Given the description of an element on the screen output the (x, y) to click on. 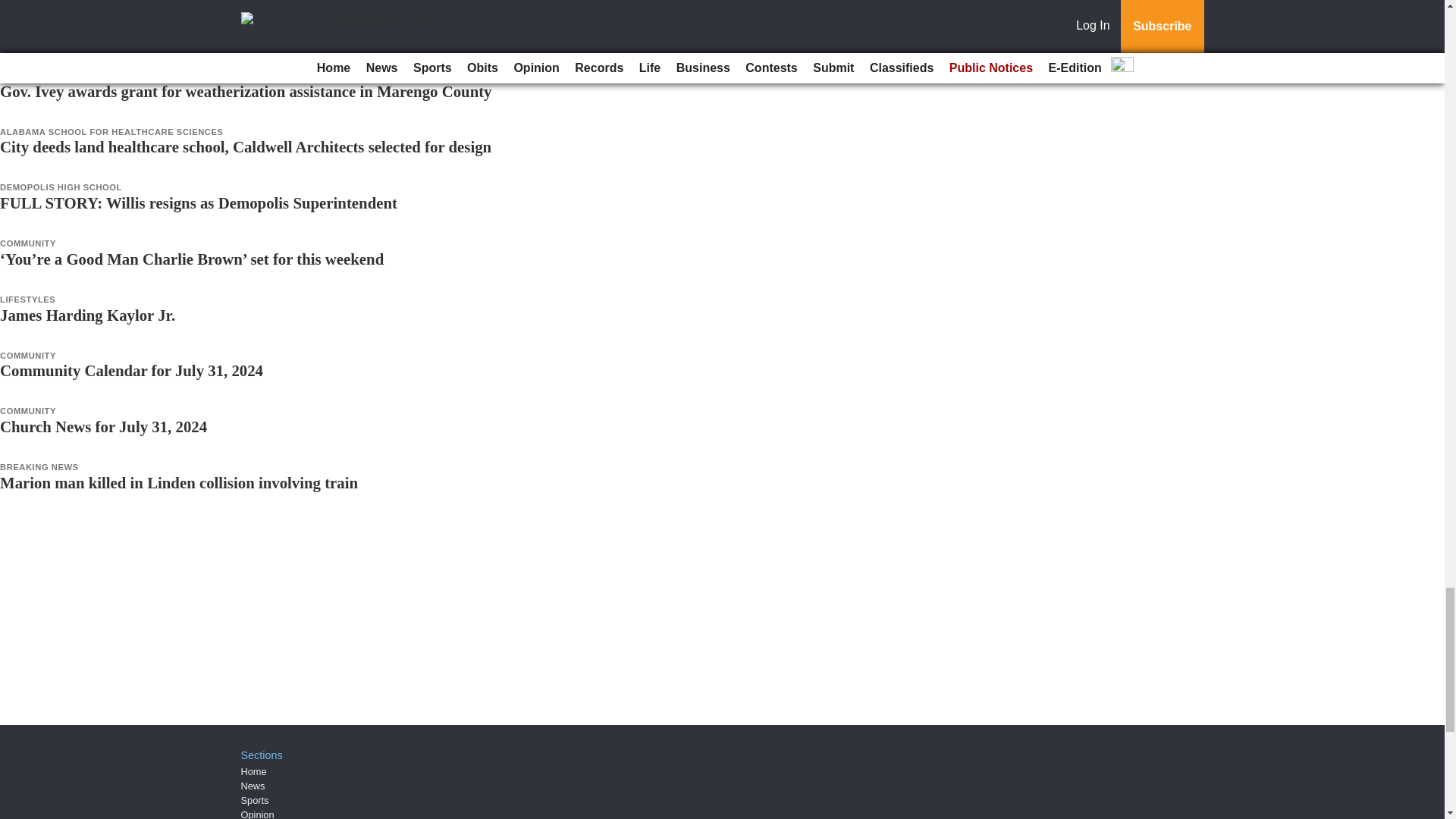
FULL STORY: Willis resigns as Demopolis Superintendent (198, 202)
